Given the description of an element on the screen output the (x, y) to click on. 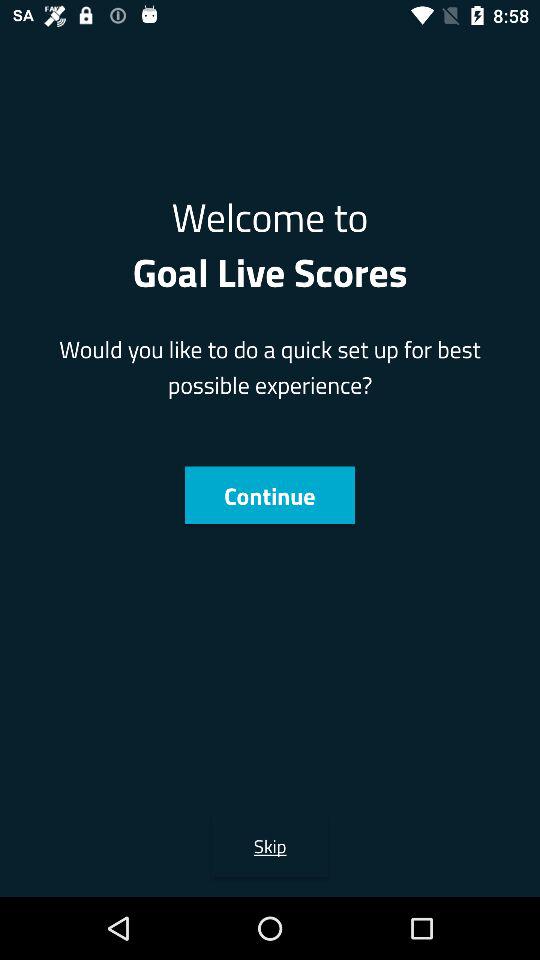
jump until skip icon (269, 845)
